Given the description of an element on the screen output the (x, y) to click on. 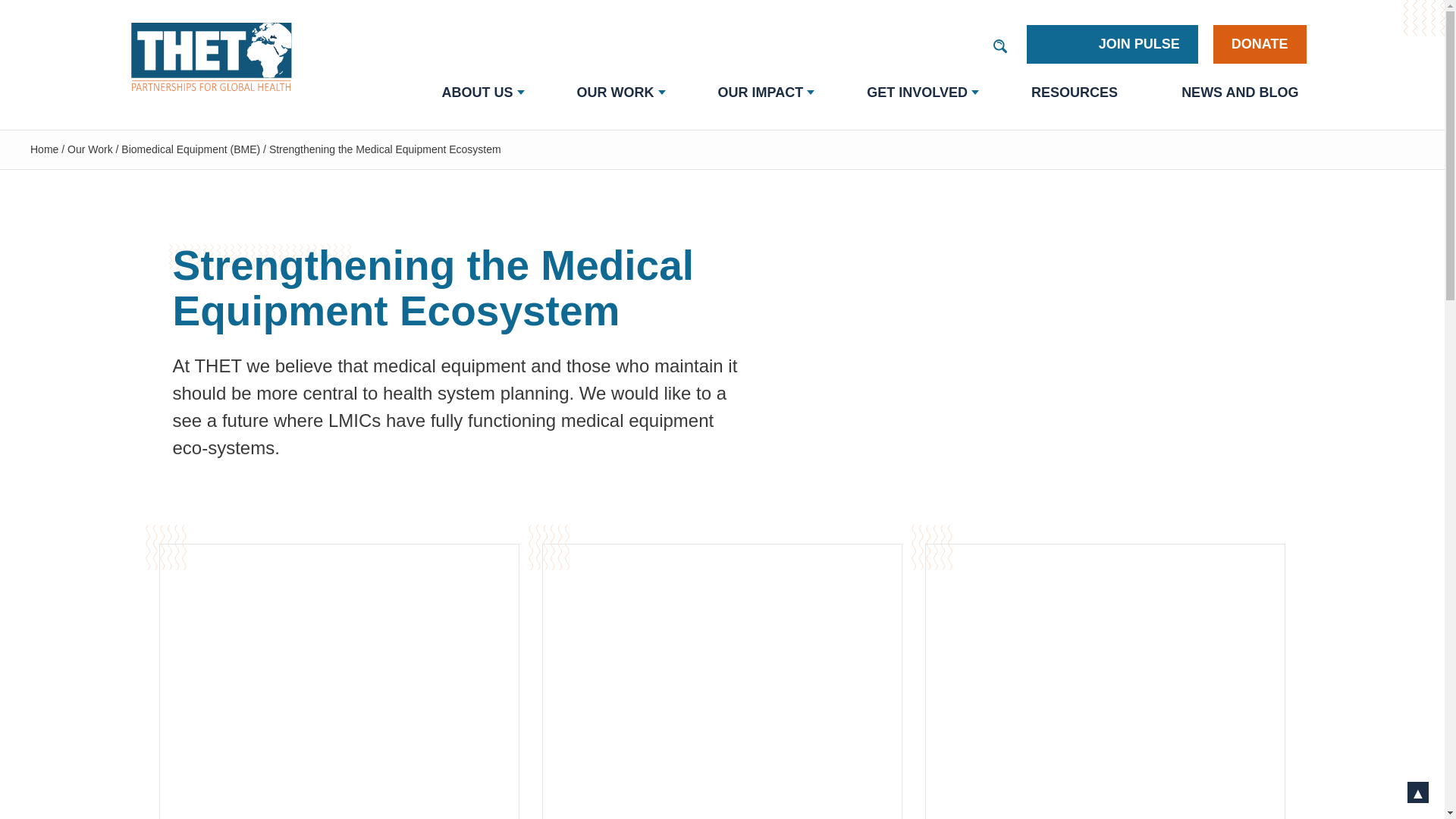
OUR WORK (615, 92)
DONATE (1259, 44)
JOIN PULSE (1112, 44)
ABOUT US (476, 92)
THET (216, 56)
